Given the description of an element on the screen output the (x, y) to click on. 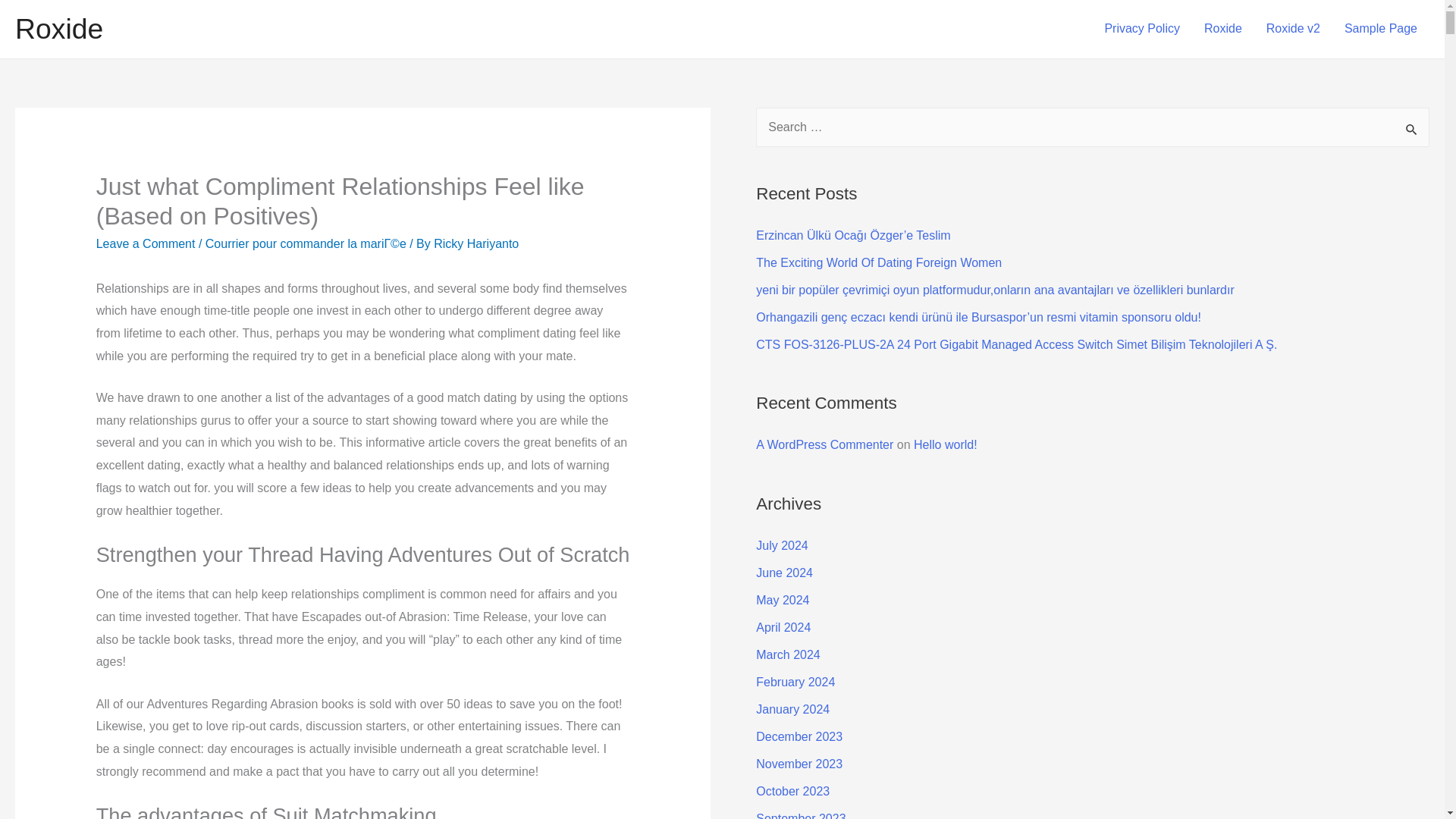
Roxide (1222, 28)
View all posts by Ricky Hariyanto (475, 243)
Roxide (58, 29)
April 2024 (782, 626)
May 2024 (782, 599)
Sample Page (1380, 28)
July 2024 (781, 545)
Ricky Hariyanto (475, 243)
January 2024 (792, 708)
February 2024 (794, 681)
